Given the description of an element on the screen output the (x, y) to click on. 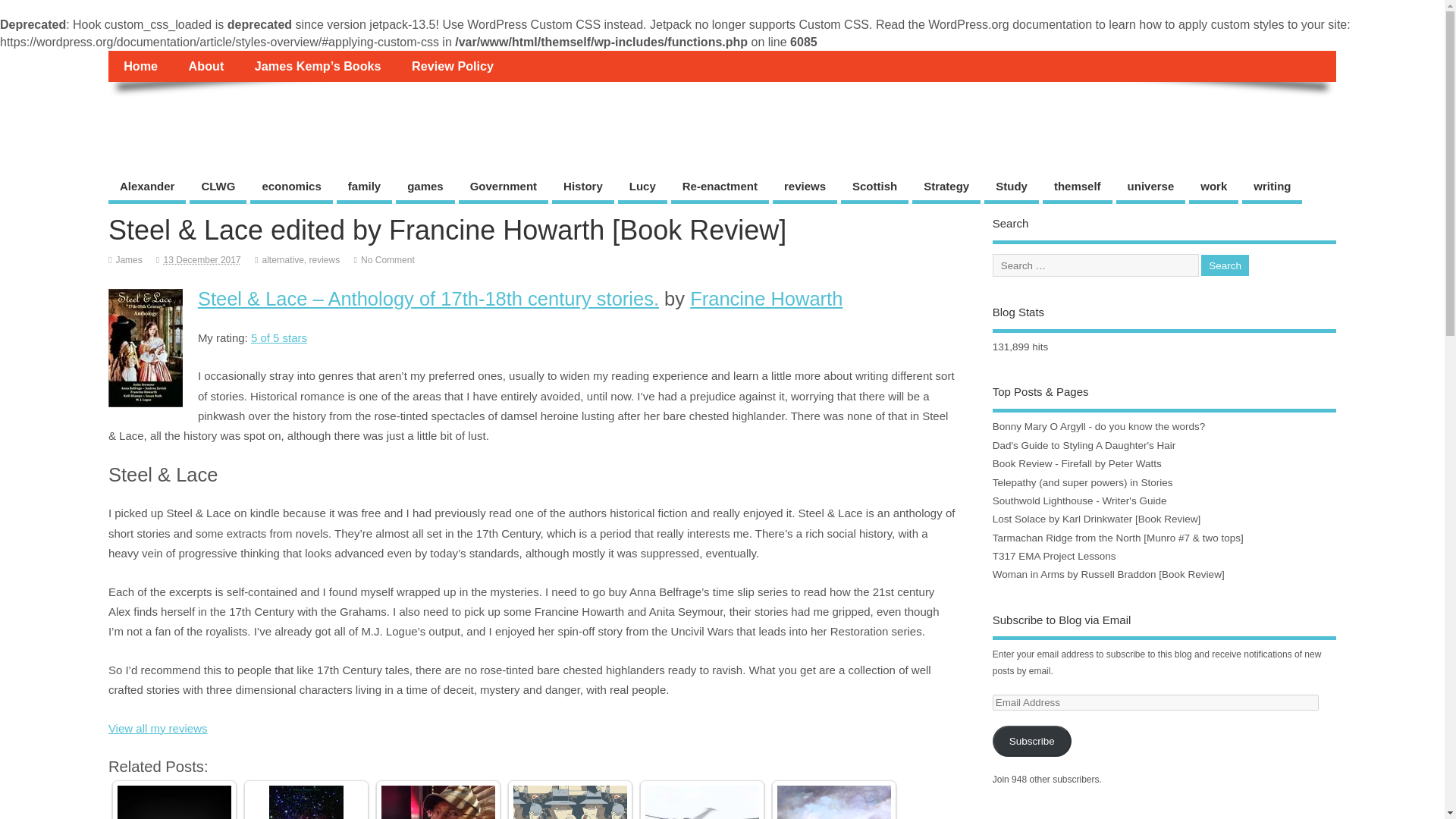
Review Policy (452, 65)
CLWG (217, 187)
family (363, 187)
Themself (161, 115)
Posts by James (128, 259)
M J Logue - Author Interview (834, 802)
Re-enactment (719, 187)
reviews (805, 187)
Perfects - Chapter 3 Trust (570, 802)
Government (503, 187)
Scottish (874, 187)
economics (290, 187)
Geek Poetry - An Anthology for the Inner Geek (174, 802)
Author Interview - Greg Smith (438, 802)
themself (1077, 187)
